Given the description of an element on the screen output the (x, y) to click on. 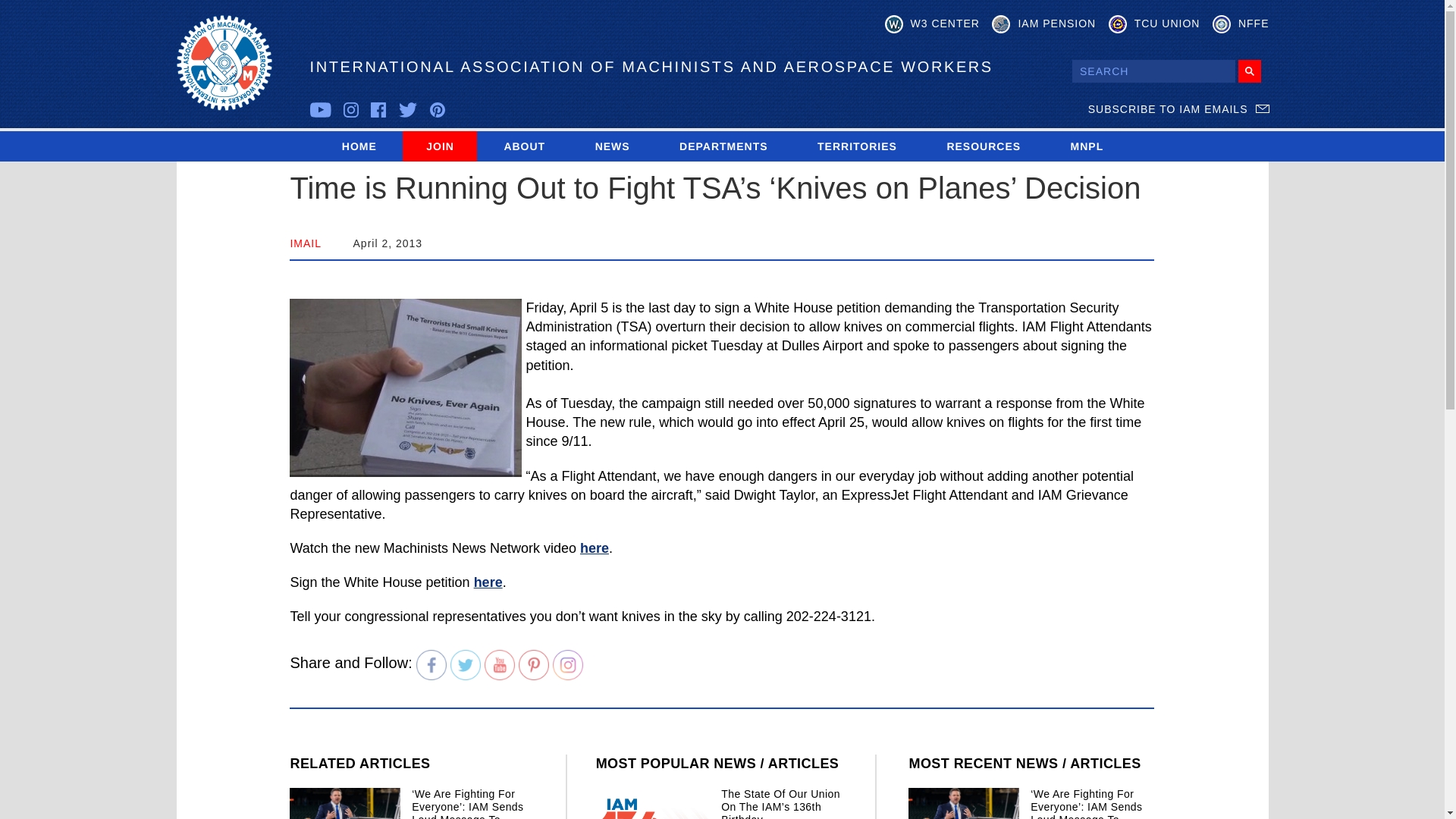
W3 CENTER (932, 24)
MNPL (1086, 146)
ABOUT (523, 146)
TERRITORIES (856, 146)
YouTube (499, 665)
NFFE (1240, 24)
IAM PENSION (1043, 24)
Facebook (431, 665)
HOME (358, 146)
here (488, 581)
TCU UNION (1153, 24)
Twitter (464, 665)
DEPARTMENTS (723, 146)
JOIN (440, 146)
Instagram (568, 665)
